Given the description of an element on the screen output the (x, y) to click on. 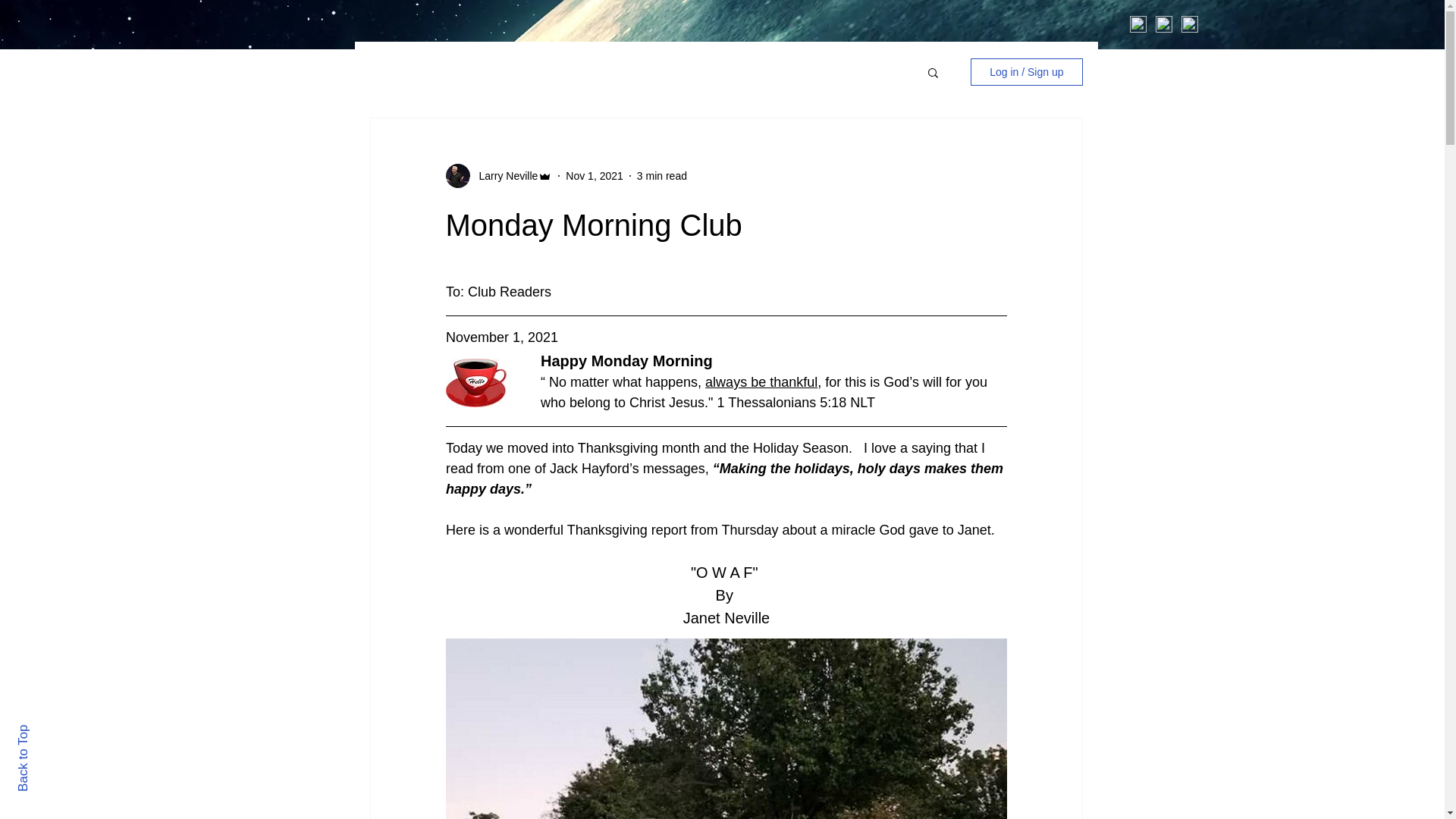
3 min read (662, 175)
Larry Neville (504, 176)
Back to Top (49, 730)
Nov 1, 2021 (594, 175)
